Given the description of an element on the screen output the (x, y) to click on. 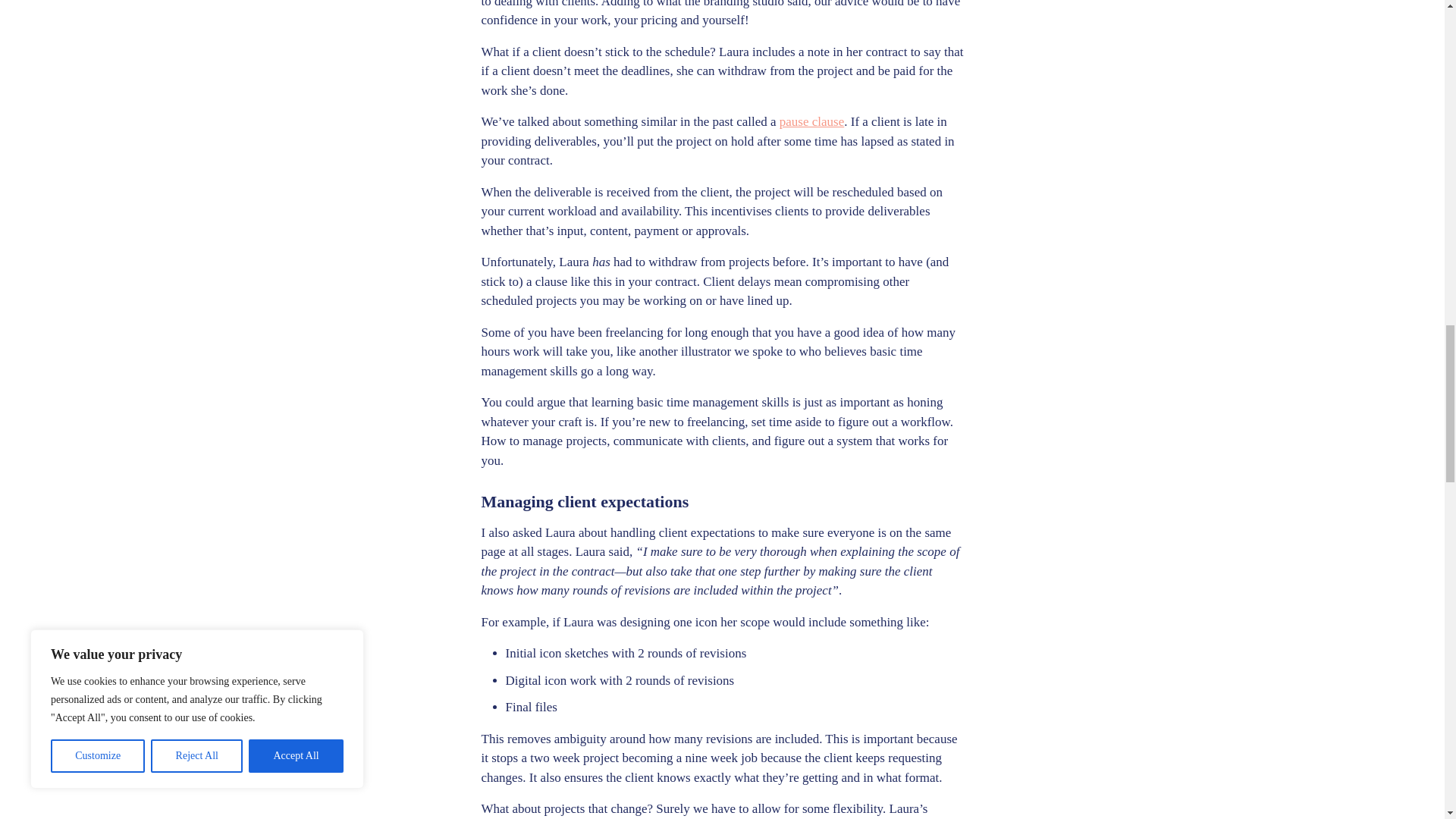
pause clause (811, 121)
